Given the description of an element on the screen output the (x, y) to click on. 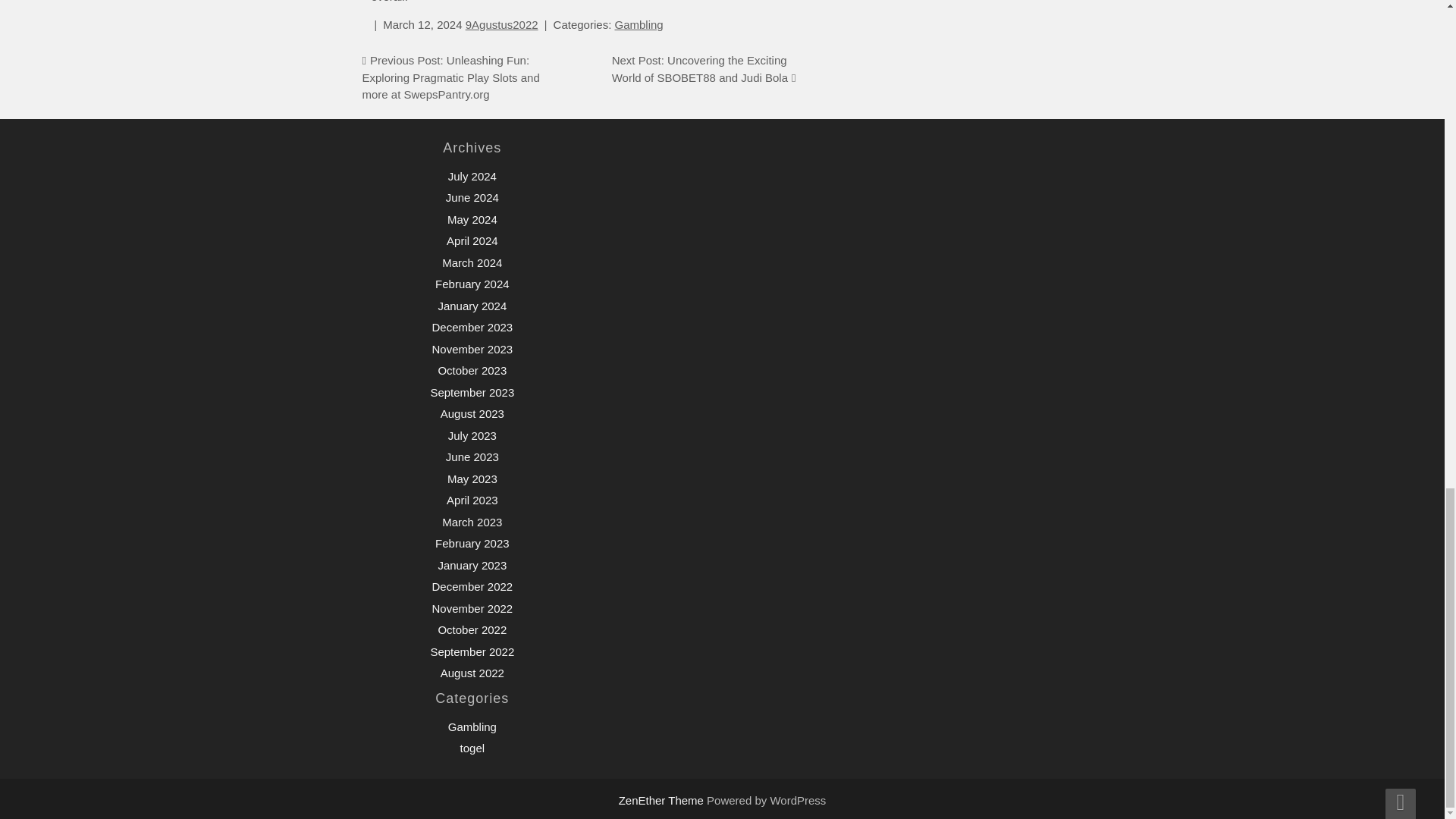
June 2023 (472, 456)
July 2024 (472, 175)
December 2022 (471, 585)
June 2024 (472, 196)
September 2023 (471, 391)
9Agustus2022 (501, 24)
ZenEther Theme (662, 799)
October 2023 (472, 369)
March 2023 (472, 521)
February 2024 (472, 283)
August 2023 (472, 413)
September 2022 (471, 651)
April 2024 (471, 240)
May 2023 (471, 478)
